Given the description of an element on the screen output the (x, y) to click on. 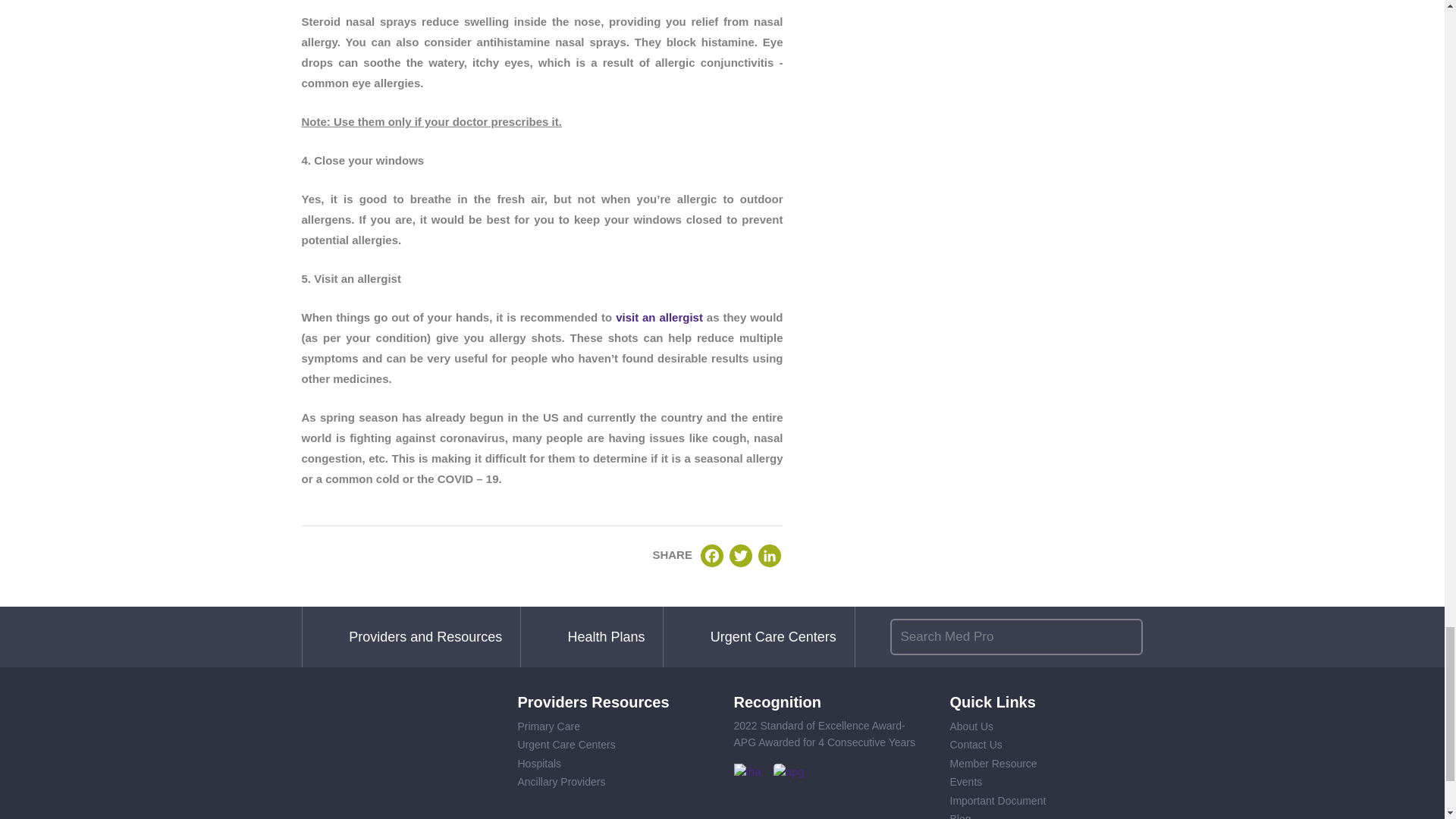
visit an allergist (659, 317)
iha (747, 772)
FACEBOOK (711, 555)
TWITTER (740, 555)
apg (789, 772)
LINKEDIN (769, 555)
